Given the description of an element on the screen output the (x, y) to click on. 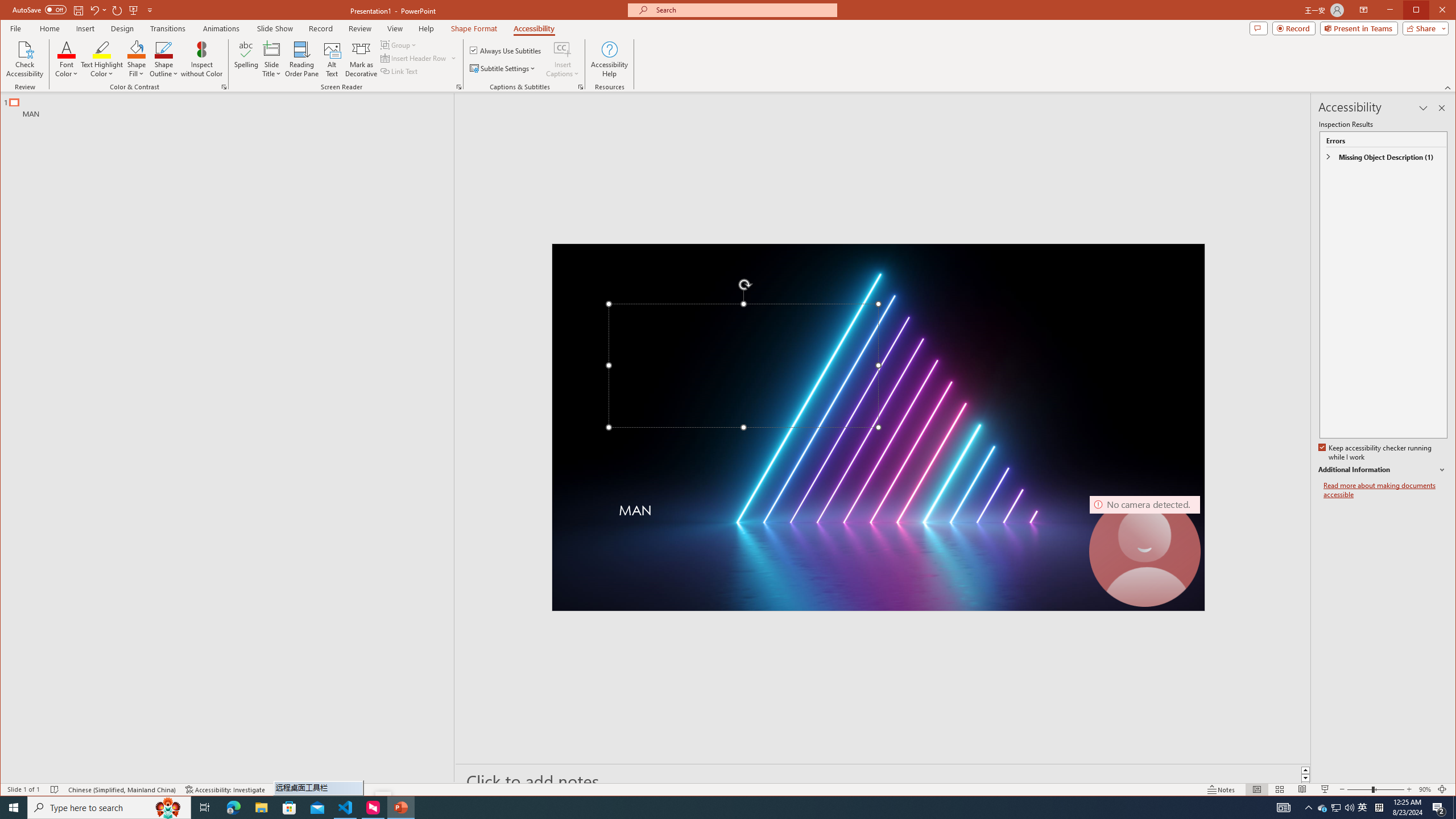
Subtitle Settings (502, 68)
